Given the description of an element on the screen output the (x, y) to click on. 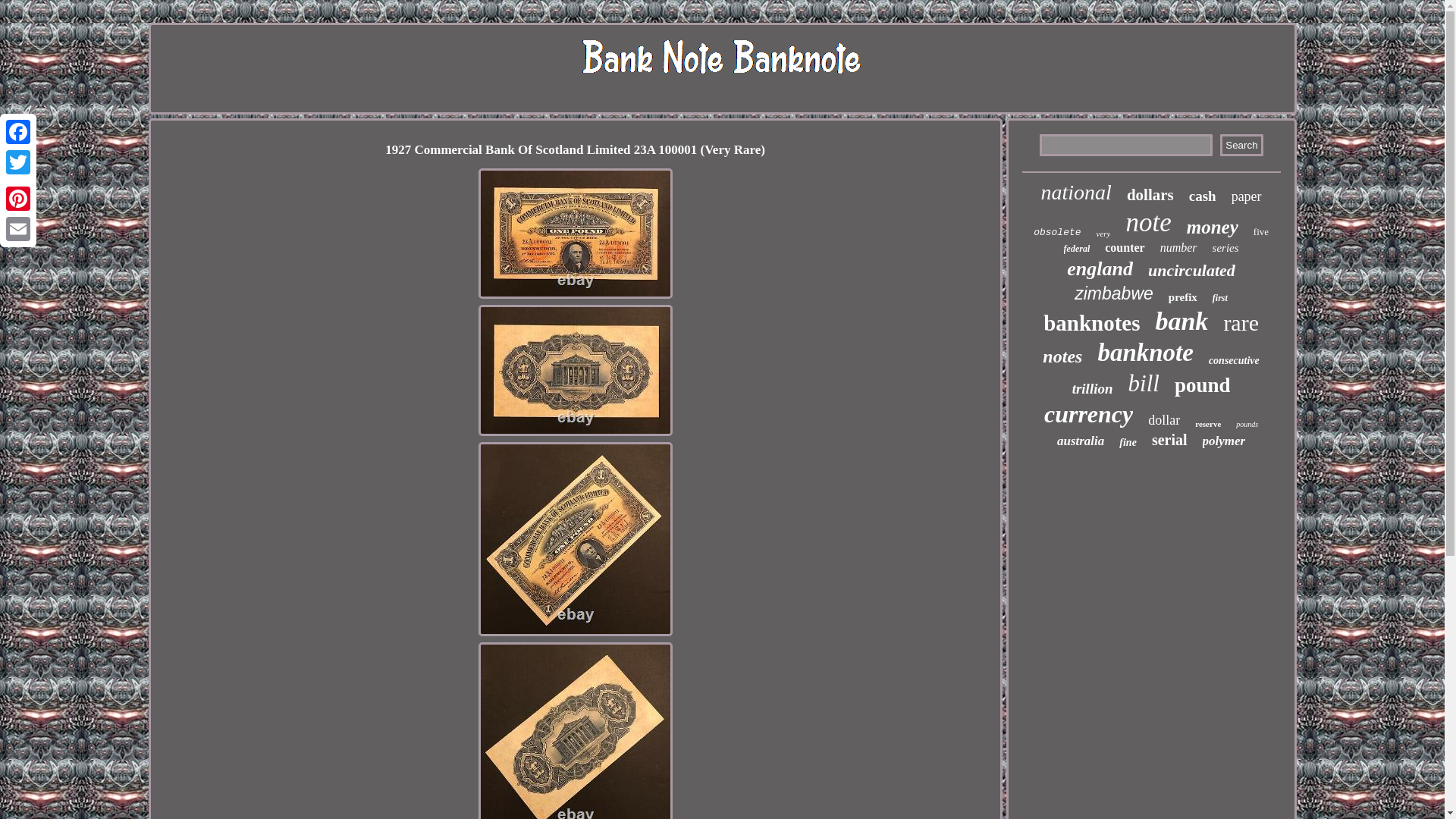
number (1178, 247)
uncirculated (1191, 270)
dollars (1149, 194)
series (1225, 247)
Search (1241, 145)
very (1103, 233)
paper (1246, 196)
counter (1124, 247)
england (1099, 268)
Email (17, 228)
five (1260, 232)
prefix (1182, 297)
cash (1202, 196)
national (1076, 192)
Twitter (17, 162)
